Given the description of an element on the screen output the (x, y) to click on. 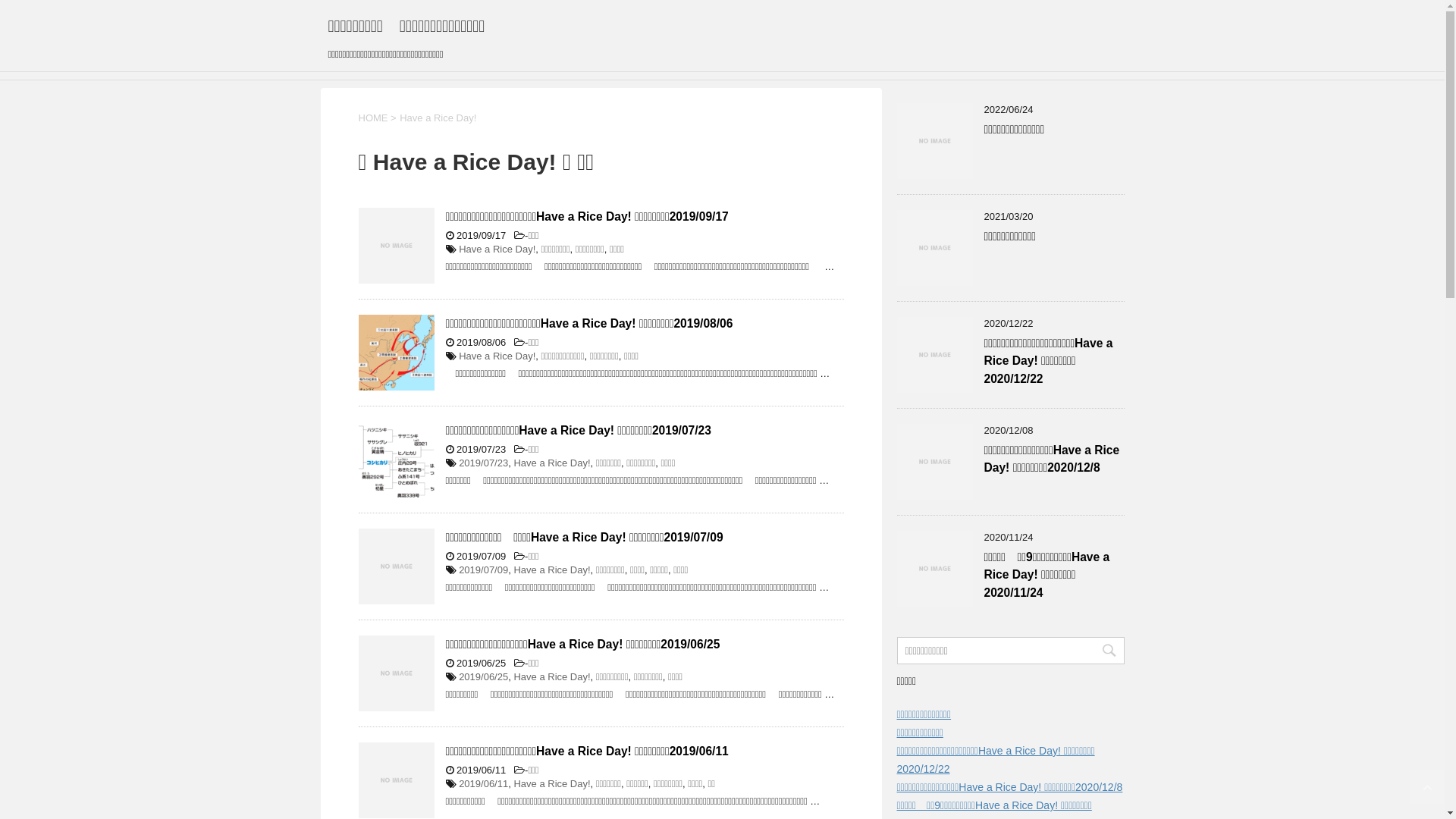
HOME Element type: text (372, 117)
no image Element type: hover (395, 673)
no image Element type: hover (934, 568)
2019/07/09 Element type: text (483, 569)
no image Element type: hover (395, 780)
no image Element type: hover (934, 140)
2019/06/11 Element type: text (483, 783)
no image Element type: hover (934, 461)
no image Element type: hover (934, 247)
Have a Rice Day! Element type: text (496, 355)
Have a Rice Day! Element type: text (551, 676)
Have a Rice Day! Element type: text (551, 783)
2019/07/23 Element type: text (483, 462)
no image Element type: hover (934, 354)
Have a Rice Day! Element type: text (496, 248)
2019/06/25 Element type: text (483, 676)
Have a Rice Day! Element type: text (551, 569)
no image Element type: hover (395, 245)
no image Element type: hover (395, 566)
Have a Rice Day! Element type: text (551, 462)
